Given the description of an element on the screen output the (x, y) to click on. 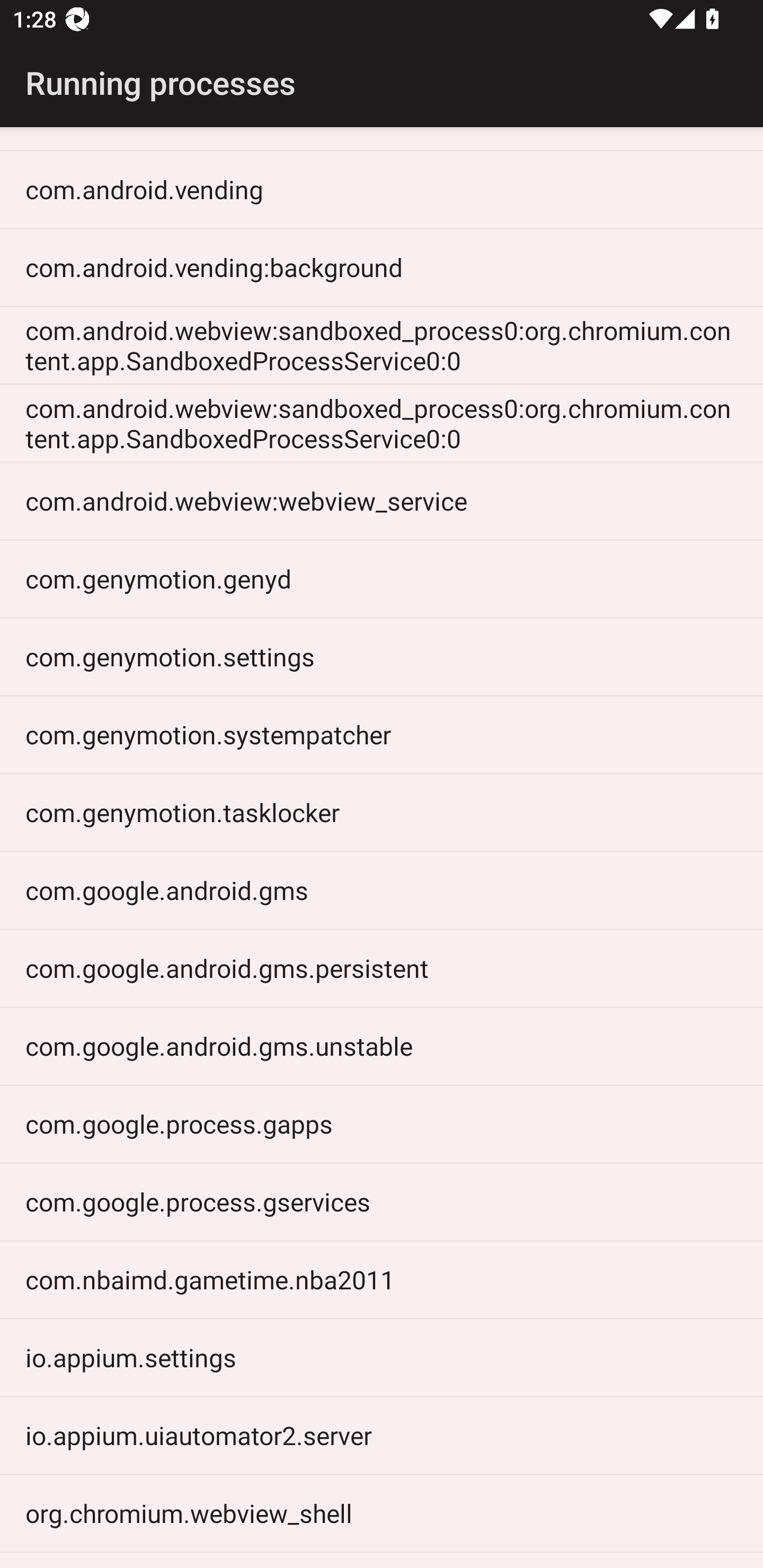
com.android.vending (381, 189)
com.android.vending:background (381, 266)
com.android.webview:webview_service (381, 500)
com.genymotion.genyd (381, 578)
com.genymotion.settings (381, 656)
com.genymotion.systempatcher (381, 734)
com.genymotion.tasklocker (381, 812)
com.google.android.gms (381, 890)
com.google.android.gms.persistent (381, 967)
com.google.android.gms.unstable (381, 1046)
com.google.process.gapps (381, 1123)
com.google.process.gservices (381, 1201)
com.nbaimd.gametime.nba2011 (381, 1279)
io.appium.settings (381, 1357)
io.appium.uiautomator2.server (381, 1435)
org.chromium.webview_shell (381, 1513)
